Given the description of an element on the screen output the (x, y) to click on. 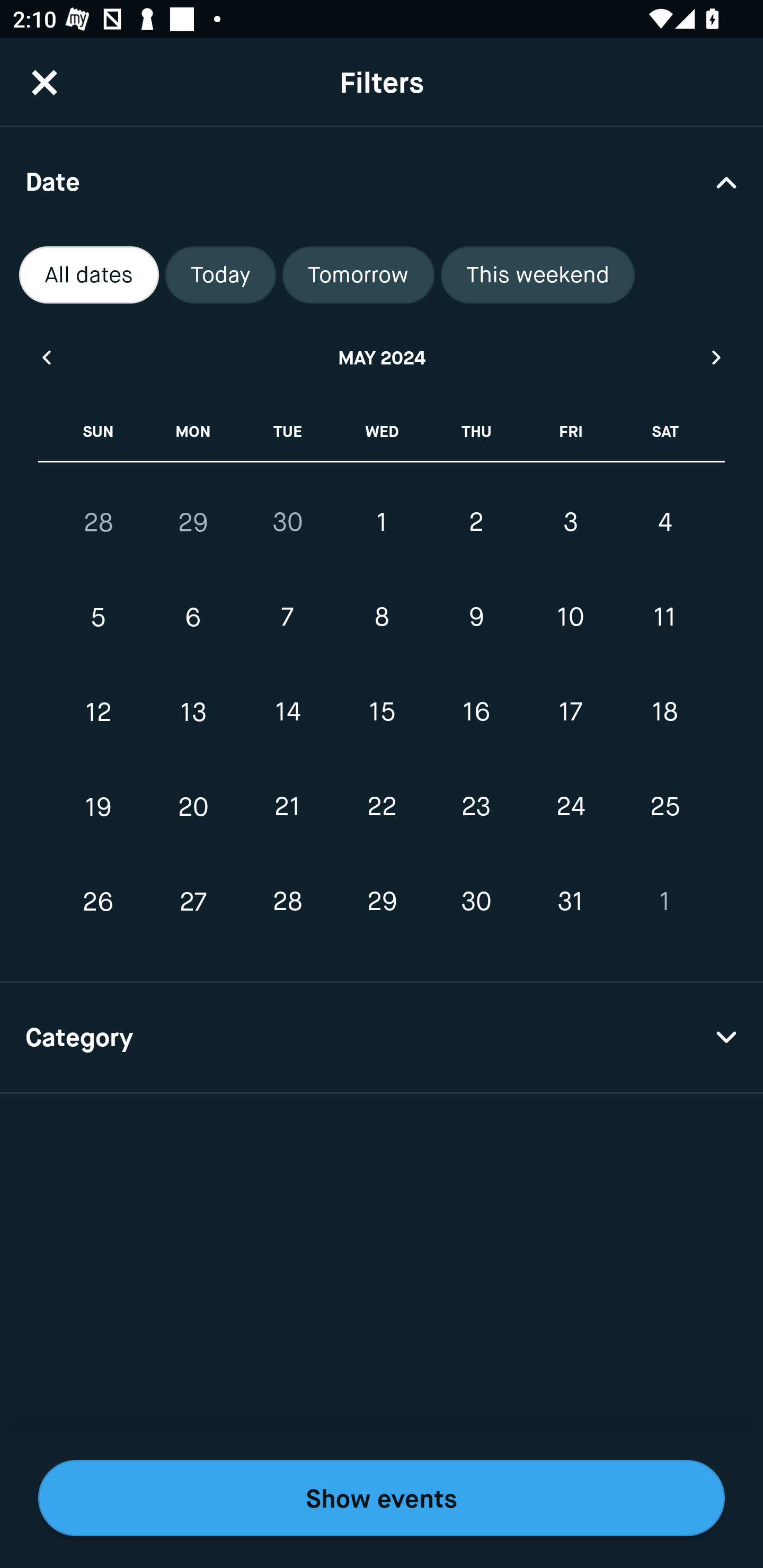
CloseButton (44, 82)
Date Drop Down Arrow (381, 181)
All dates (88, 274)
Today (220, 274)
Tomorrow (358, 274)
This weekend (537, 274)
Previous (45, 357)
Next (717, 357)
28 (98, 522)
29 (192, 522)
30 (287, 522)
1 (381, 522)
2 (475, 522)
3 (570, 522)
4 (664, 522)
5 (98, 617)
6 (192, 617)
7 (287, 617)
8 (381, 617)
9 (475, 617)
10 (570, 617)
11 (664, 617)
12 (98, 711)
13 (192, 711)
14 (287, 711)
15 (381, 711)
16 (475, 711)
17 (570, 711)
18 (664, 711)
19 (98, 806)
20 (192, 806)
21 (287, 806)
22 (381, 806)
23 (475, 806)
24 (570, 806)
25 (664, 806)
26 (98, 901)
27 (192, 901)
28 (287, 901)
29 (381, 901)
30 (475, 901)
31 (570, 901)
1 (664, 901)
Category Drop Down Arrow (381, 1038)
Show events (381, 1497)
